Given the description of an element on the screen output the (x, y) to click on. 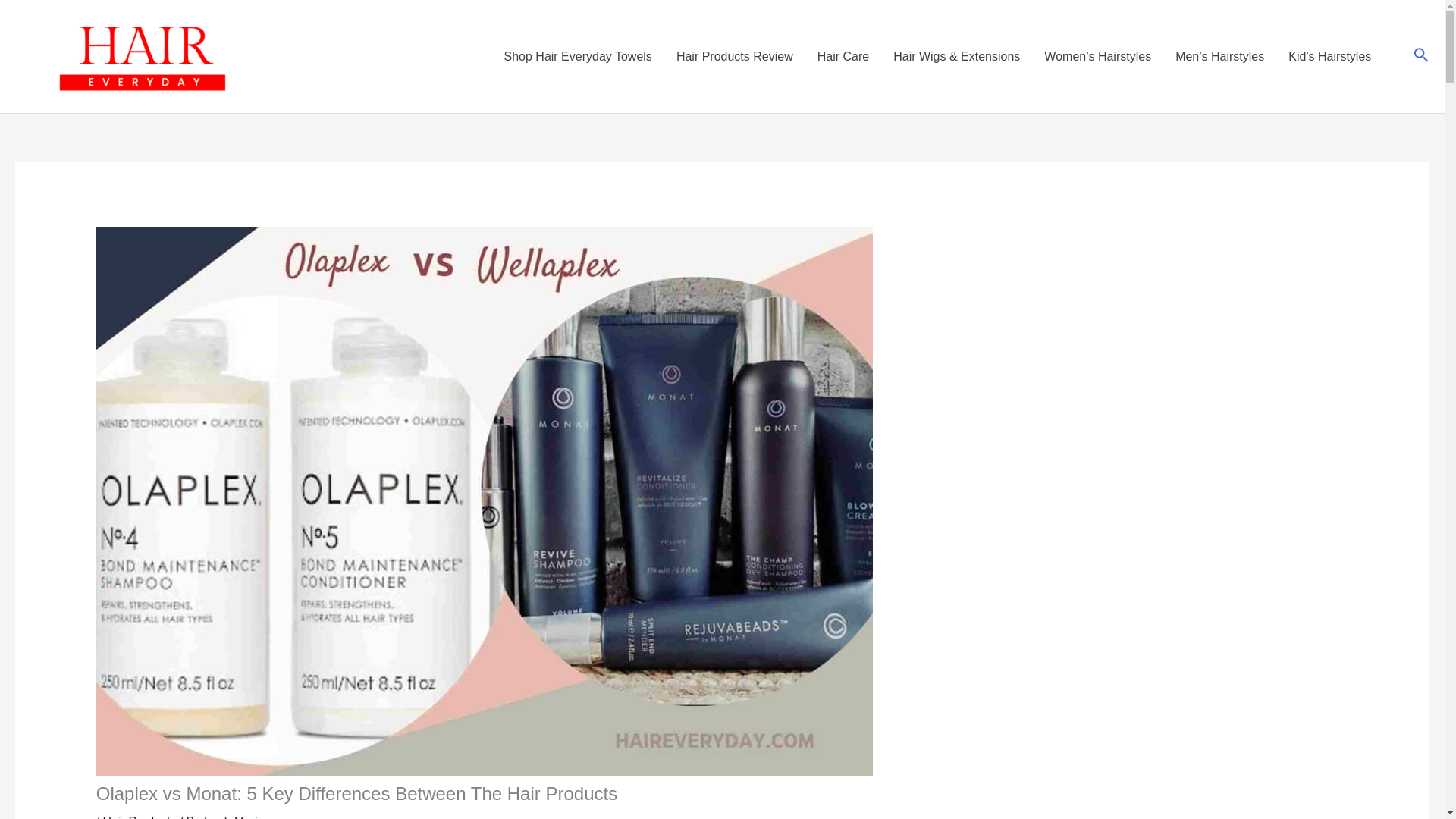
Shop Hair Everyday Towels (577, 55)
Hair Care (842, 55)
Hair Products (139, 816)
Hair Products Review (734, 55)
Leah Marie (233, 816)
View all posts by Leah Marie (233, 816)
